Given the description of an element on the screen output the (x, y) to click on. 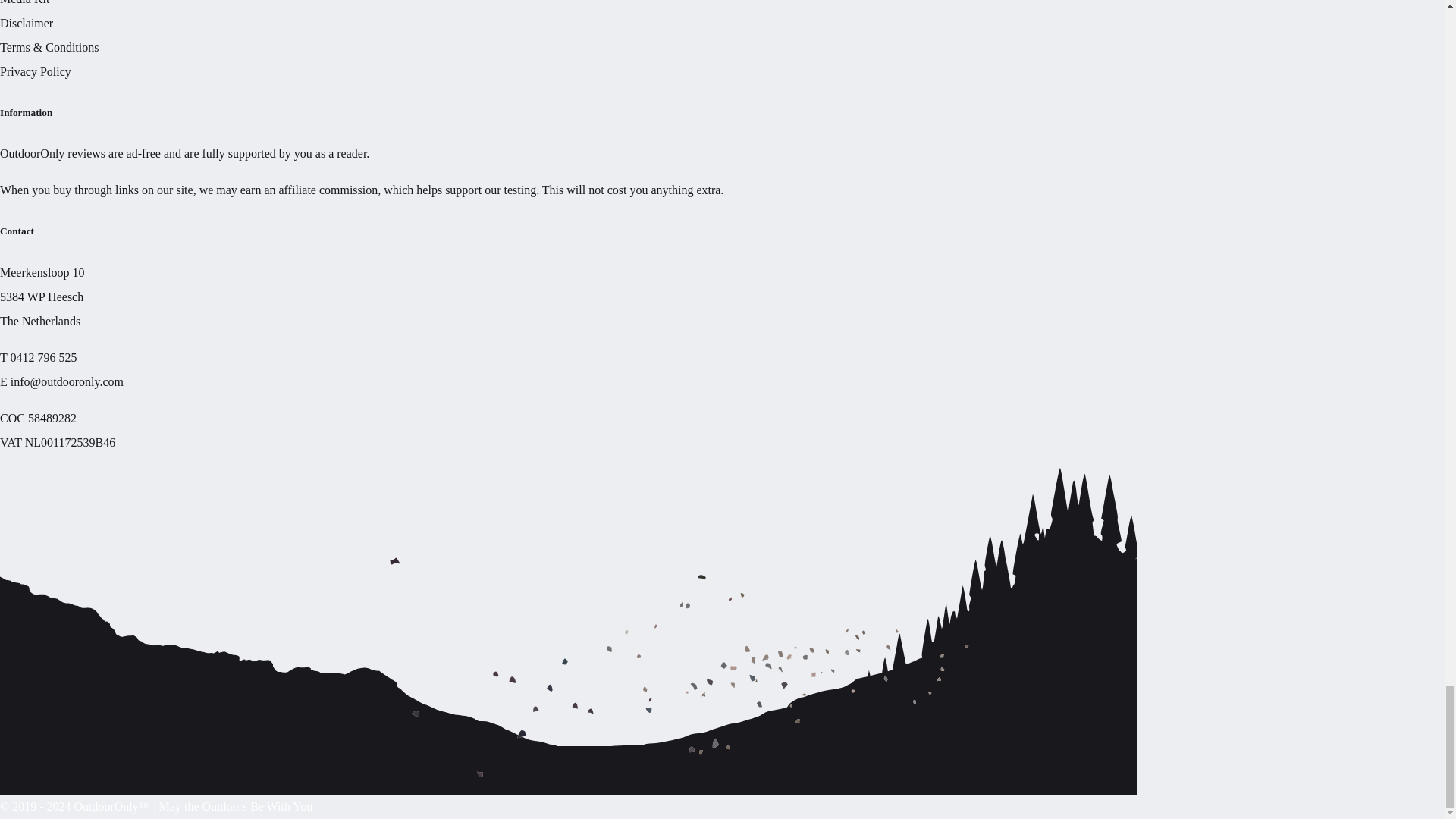
Media Kit (24, 2)
